Given the description of an element on the screen output the (x, y) to click on. 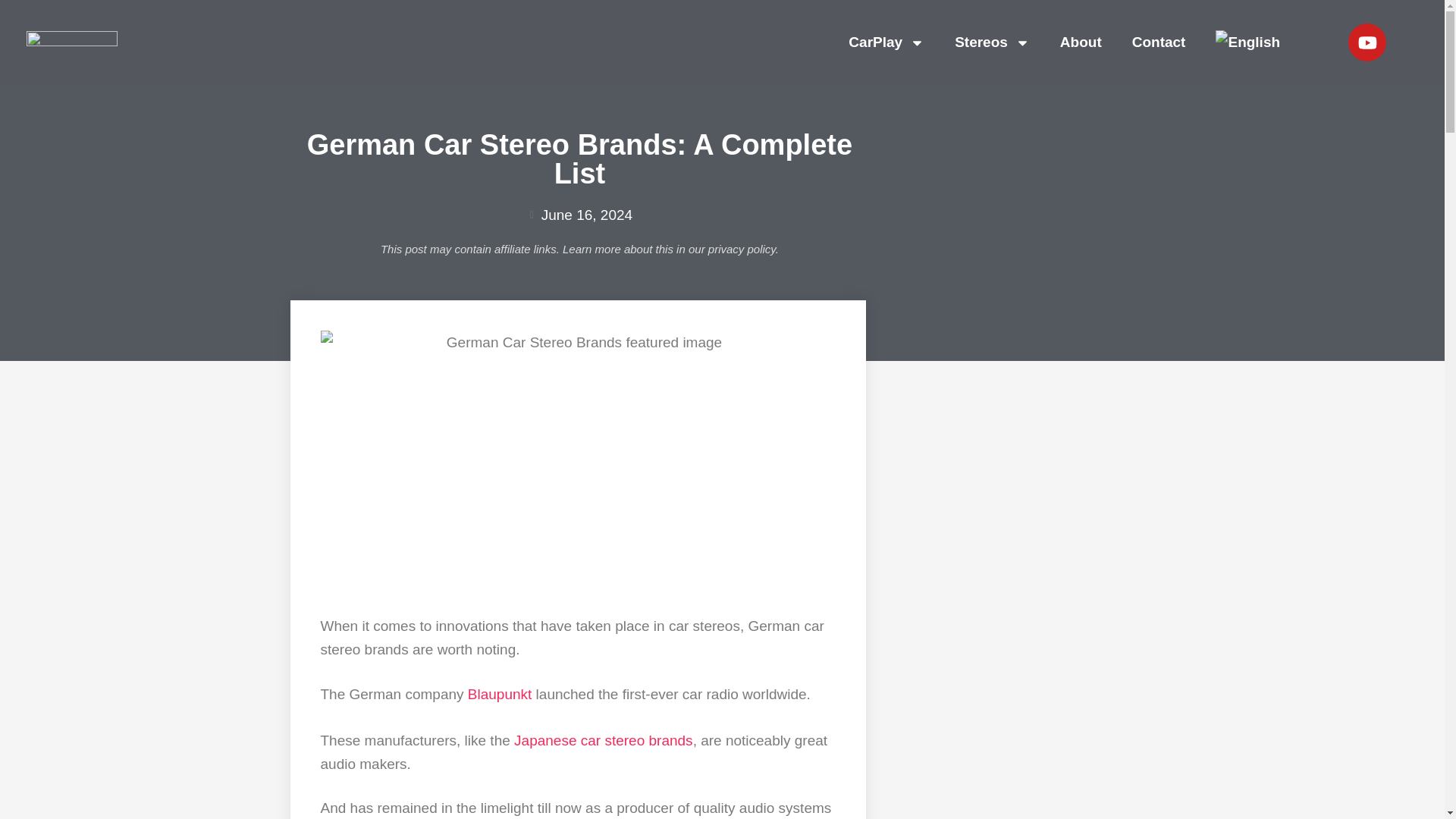
Stereos (992, 42)
CarPlay (885, 42)
Contact (1158, 42)
